Given the description of an element on the screen output the (x, y) to click on. 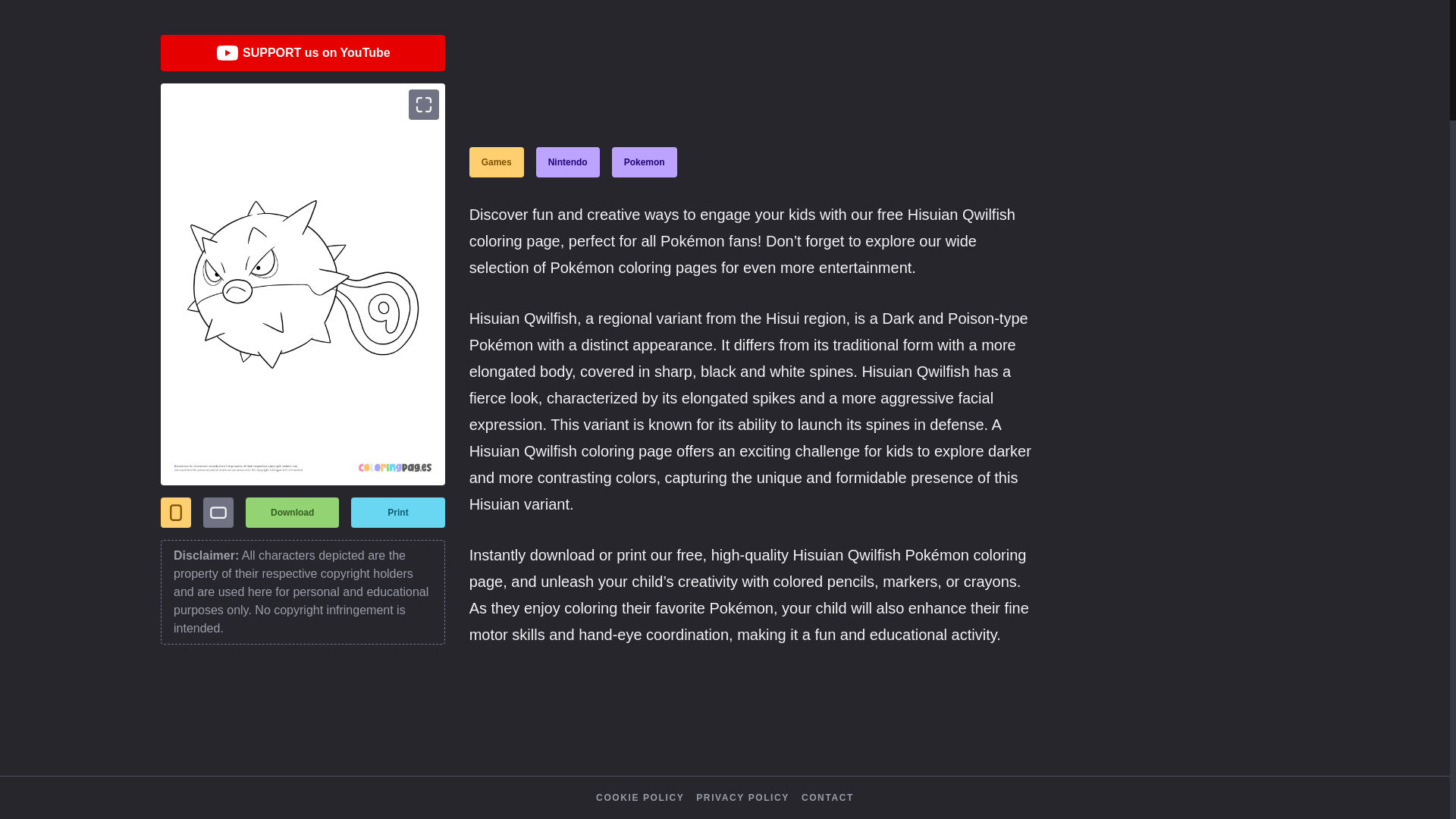
COOKIE POLICY (639, 797)
Download (292, 512)
Nintendo (567, 162)
Pokemon (644, 162)
PRIVACY POLICY (742, 797)
CONTACT (827, 797)
Games (496, 162)
Advertisement (436, 3)
SUPPORT us on YouTube (302, 53)
